Given the description of an element on the screen output the (x, y) to click on. 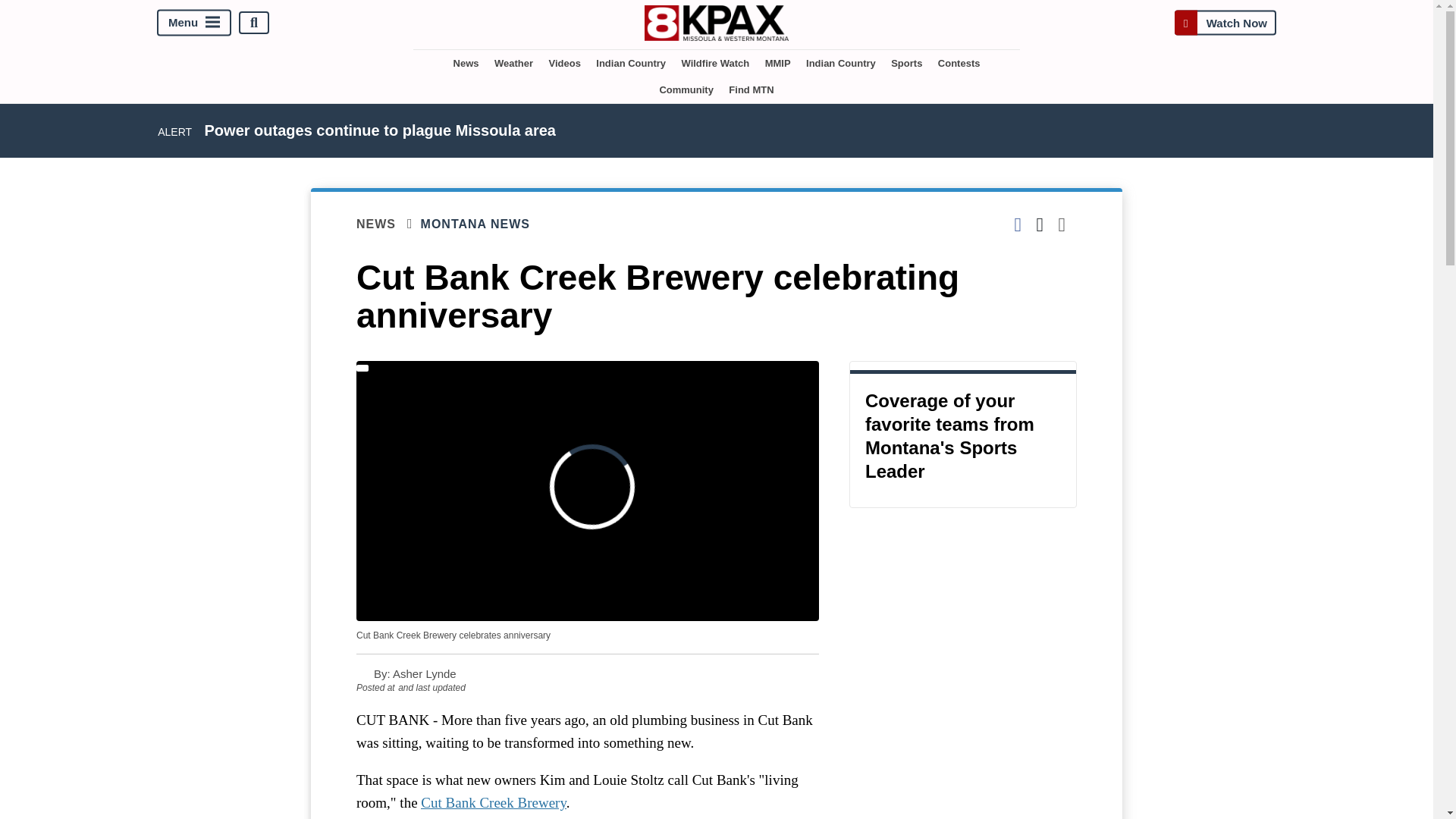
Watch Now (1224, 22)
Menu (194, 22)
